Given the description of an element on the screen output the (x, y) to click on. 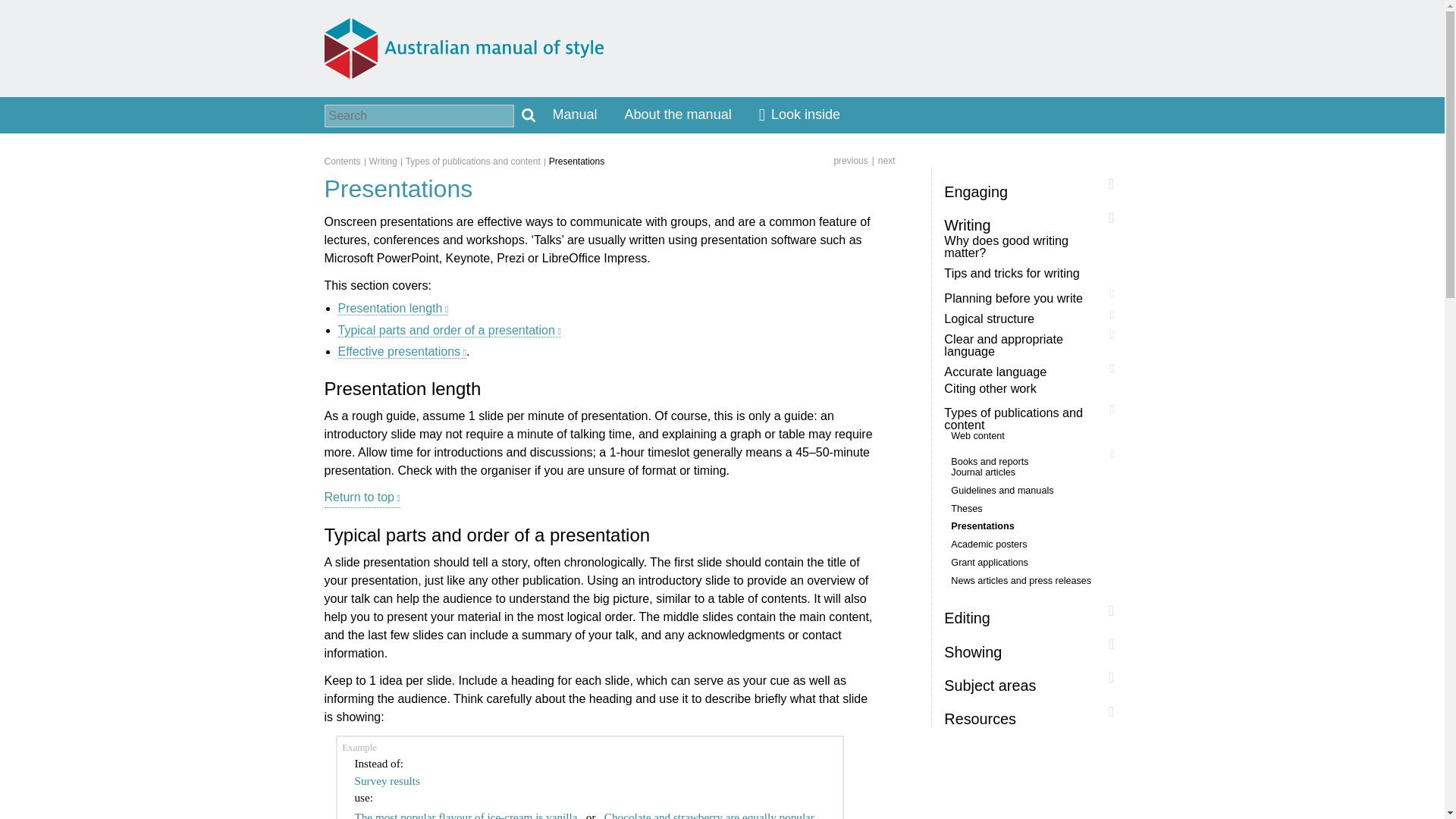
Return to top (362, 497)
Go to previous page (849, 160)
Typical parts and order of a presentation (448, 330)
Go to next page (881, 160)
Contents (346, 161)
Look inside (799, 115)
Search (527, 115)
About the manual (678, 115)
Effective presentations (402, 351)
Home (464, 48)
previous (849, 160)
Enter the terms you wish to search for. (418, 115)
Types of publications and content (477, 161)
Writing (387, 161)
next (881, 160)
